Given the description of an element on the screen output the (x, y) to click on. 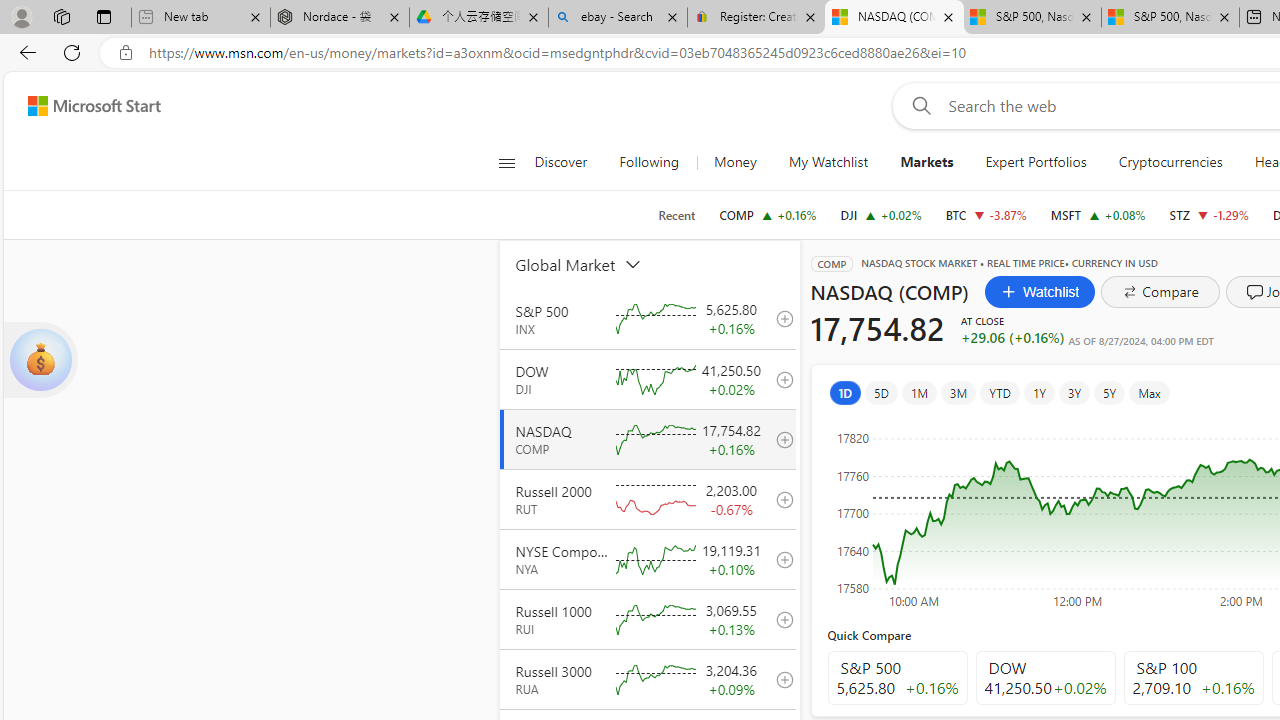
Money (734, 162)
3Y (1074, 392)
Skip to footer (82, 105)
Money (735, 162)
Cryptocurrencies (1170, 162)
My Watchlist (827, 162)
Global Market (601, 264)
Markets (926, 162)
Register: Create a personal eBay account (756, 17)
